Given the description of an element on the screen output the (x, y) to click on. 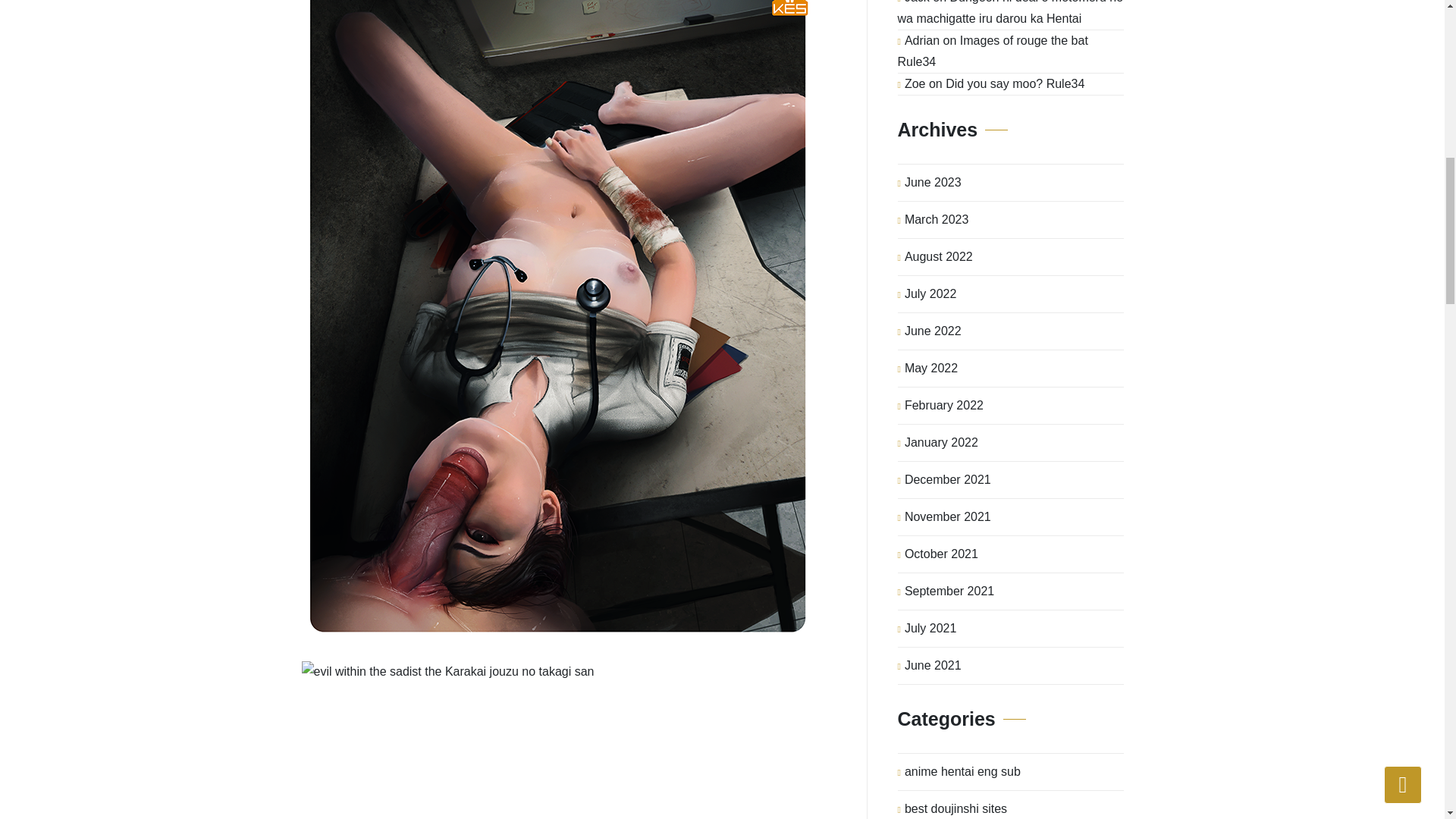
January 2022 (941, 443)
Did you say moo? Rule34 (1014, 83)
July 2022 (930, 294)
March 2023 (936, 219)
anime hentai eng sub (962, 771)
November 2021 (947, 516)
August 2022 (938, 257)
best doujinshi sites (955, 805)
Images of rouge the bat Rule34 (992, 50)
